Given the description of an element on the screen output the (x, y) to click on. 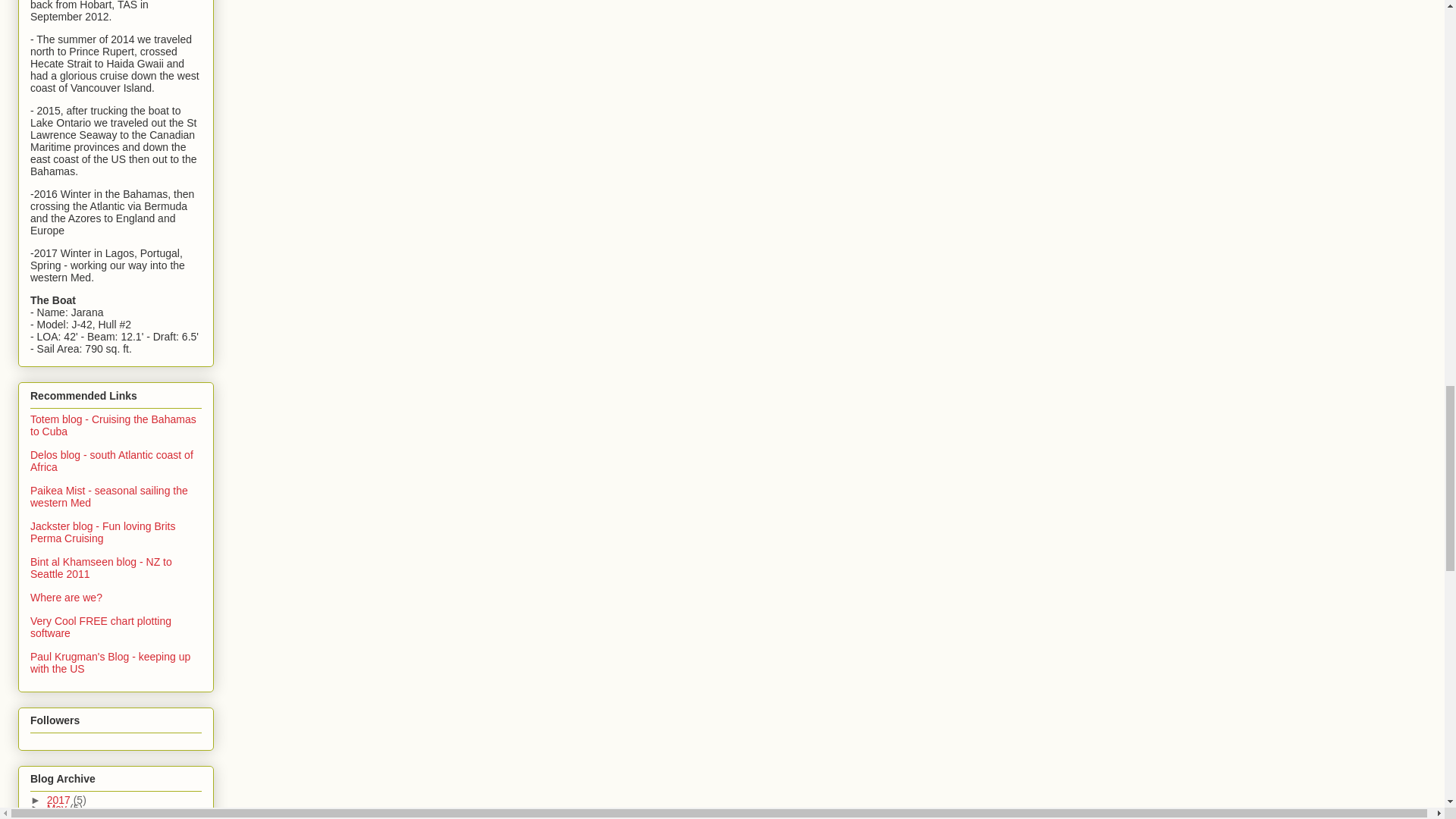
Totem blog - Cruising the Bahamas to Cuba (113, 425)
Delos blog - south Atlantic coast of Africa (111, 460)
Paul Krugman's Blog - keeping up with the US (110, 662)
2016 (60, 817)
Jackster blog - Fun loving Brits Perma Cruising (102, 532)
May (57, 808)
Where are we? (65, 597)
Very Cool FREE chart plotting software (100, 627)
2017 (60, 799)
Paikea Mist - seasonal sailing the western Med (108, 496)
Bint al Khamseen blog - NZ to Seattle 2011 (100, 567)
